Given the description of an element on the screen output the (x, y) to click on. 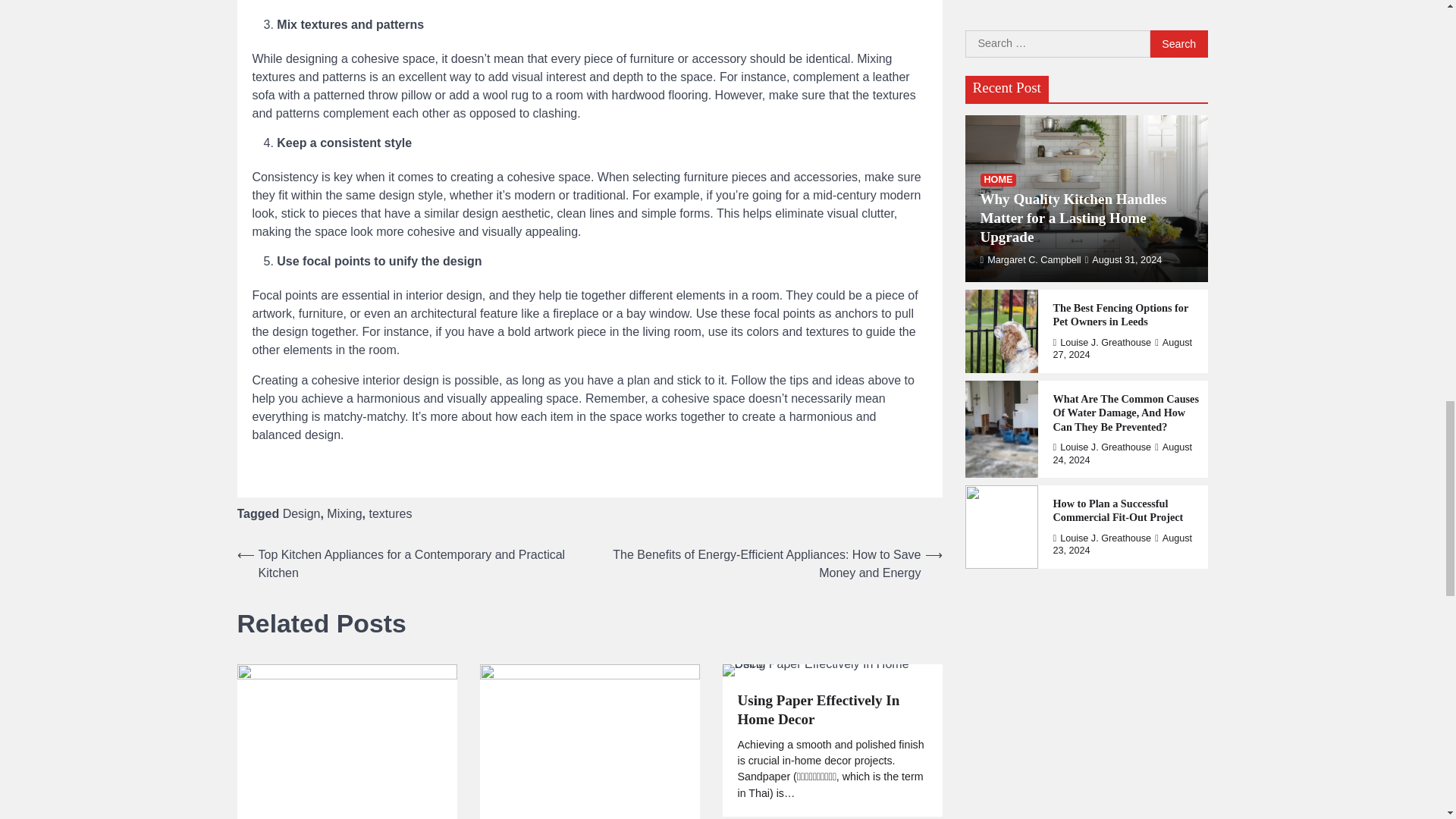
textures (390, 513)
Using Paper Effectively In Home Decor (831, 710)
Mixing (343, 513)
Design (301, 513)
